Given the description of an element on the screen output the (x, y) to click on. 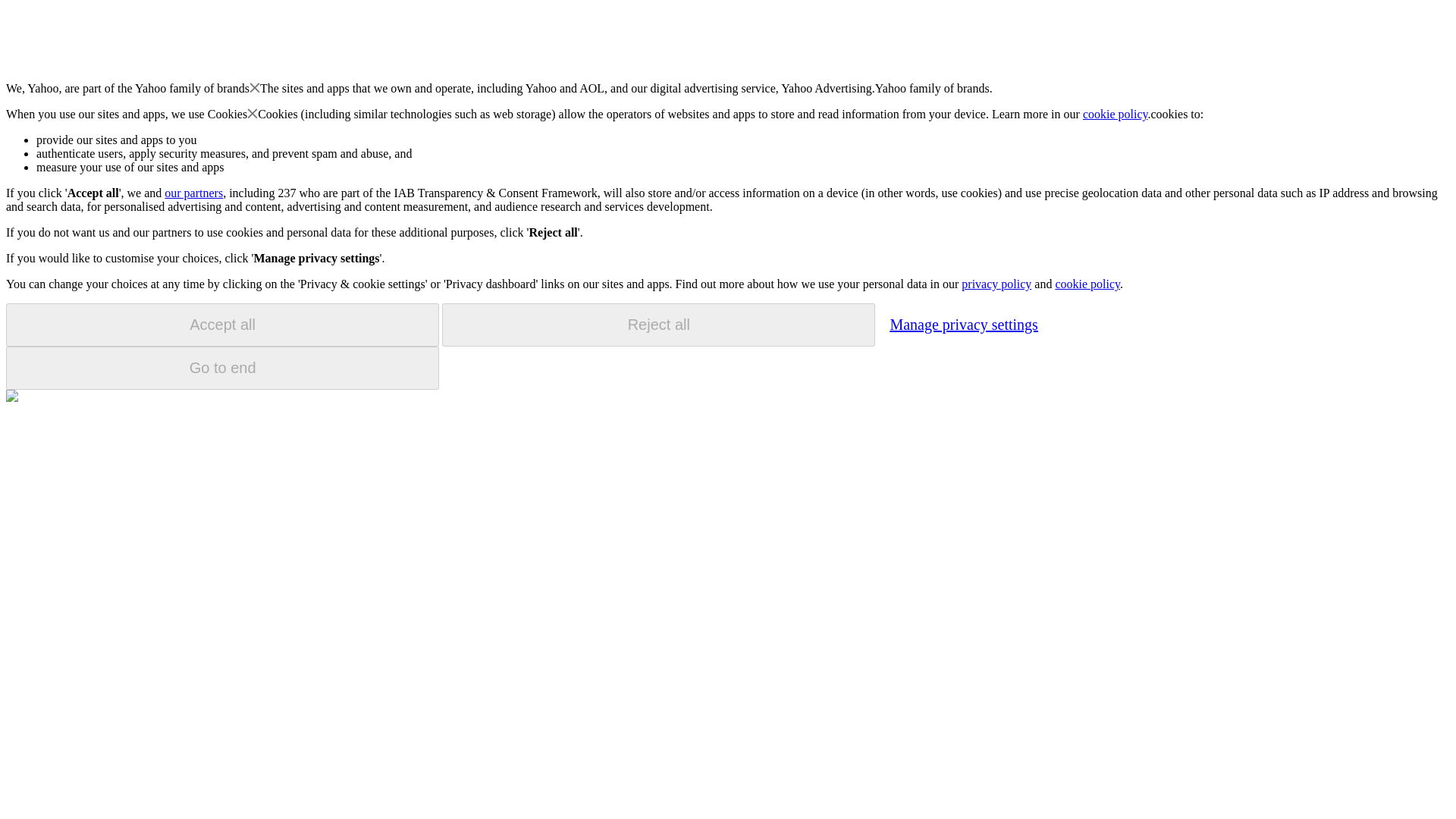
Go to end (222, 367)
privacy policy (995, 283)
cookie policy (1115, 113)
Manage privacy settings (963, 323)
Reject all (658, 324)
our partners (193, 192)
cookie policy (1086, 283)
Accept all (222, 324)
